Given the description of an element on the screen output the (x, y) to click on. 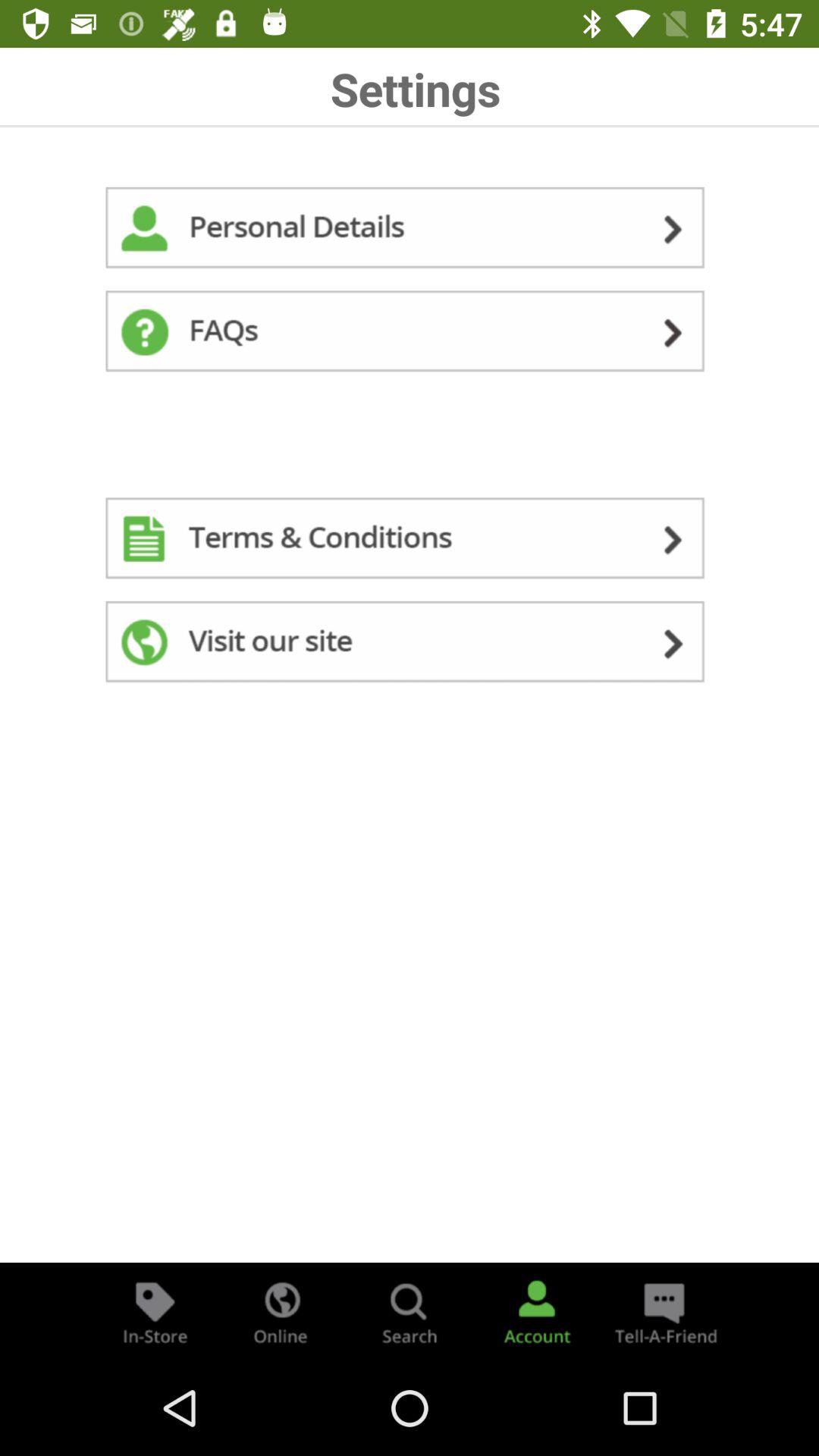
view terms and conditions (409, 541)
